Given the description of an element on the screen output the (x, y) to click on. 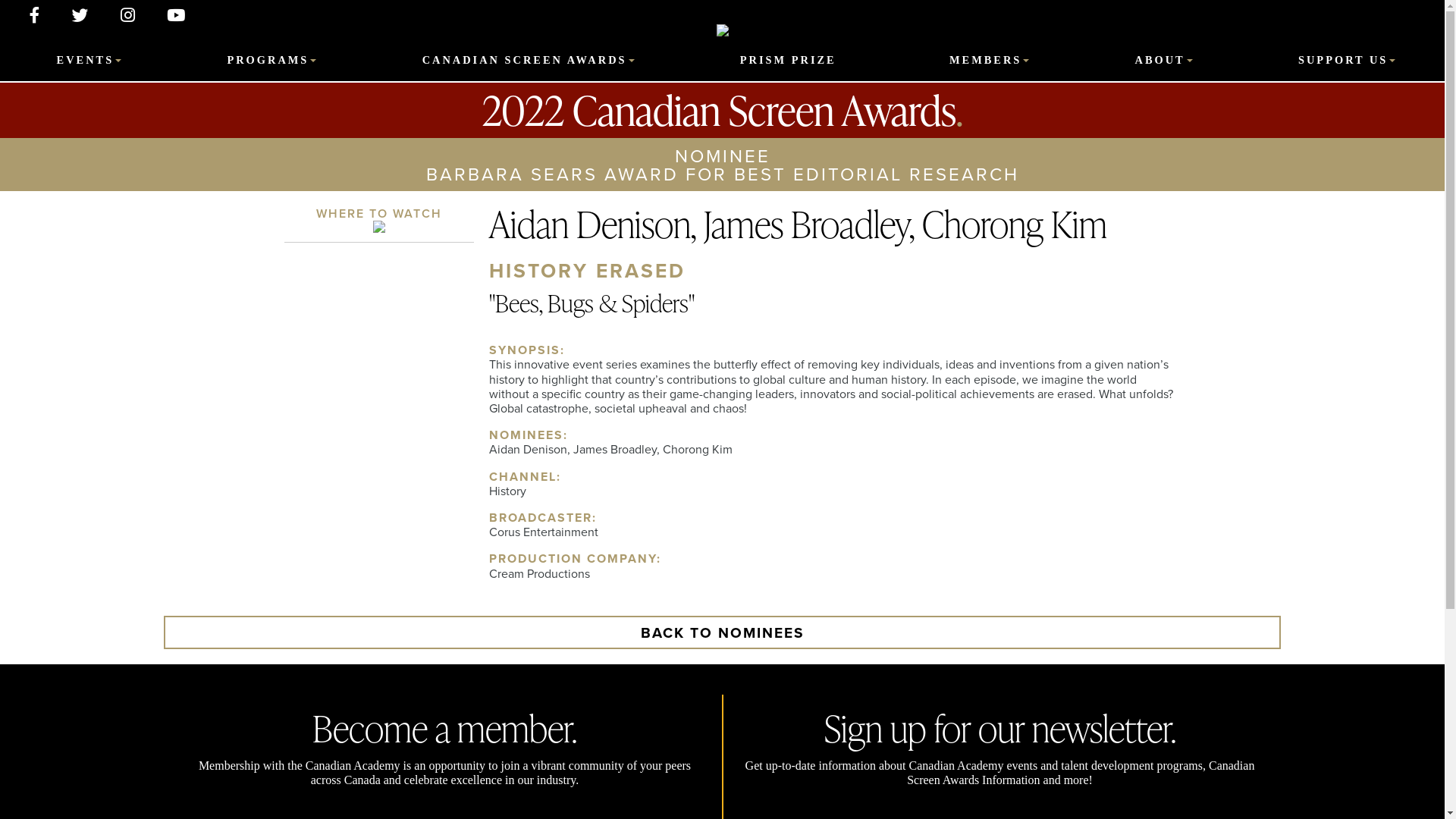
ABOUT Element type: text (1160, 59)
BACK TO NOMINEES Element type: text (721, 632)
PRISM PRIZE Element type: text (788, 59)
MEMBERS Element type: text (985, 59)
CANADIAN SCREEN AWARDS Element type: text (524, 59)
SUPPORT US Element type: text (1342, 59)
EVENTS Element type: text (85, 59)
PROGRAMS Element type: text (267, 59)
